Given the description of an element on the screen output the (x, y) to click on. 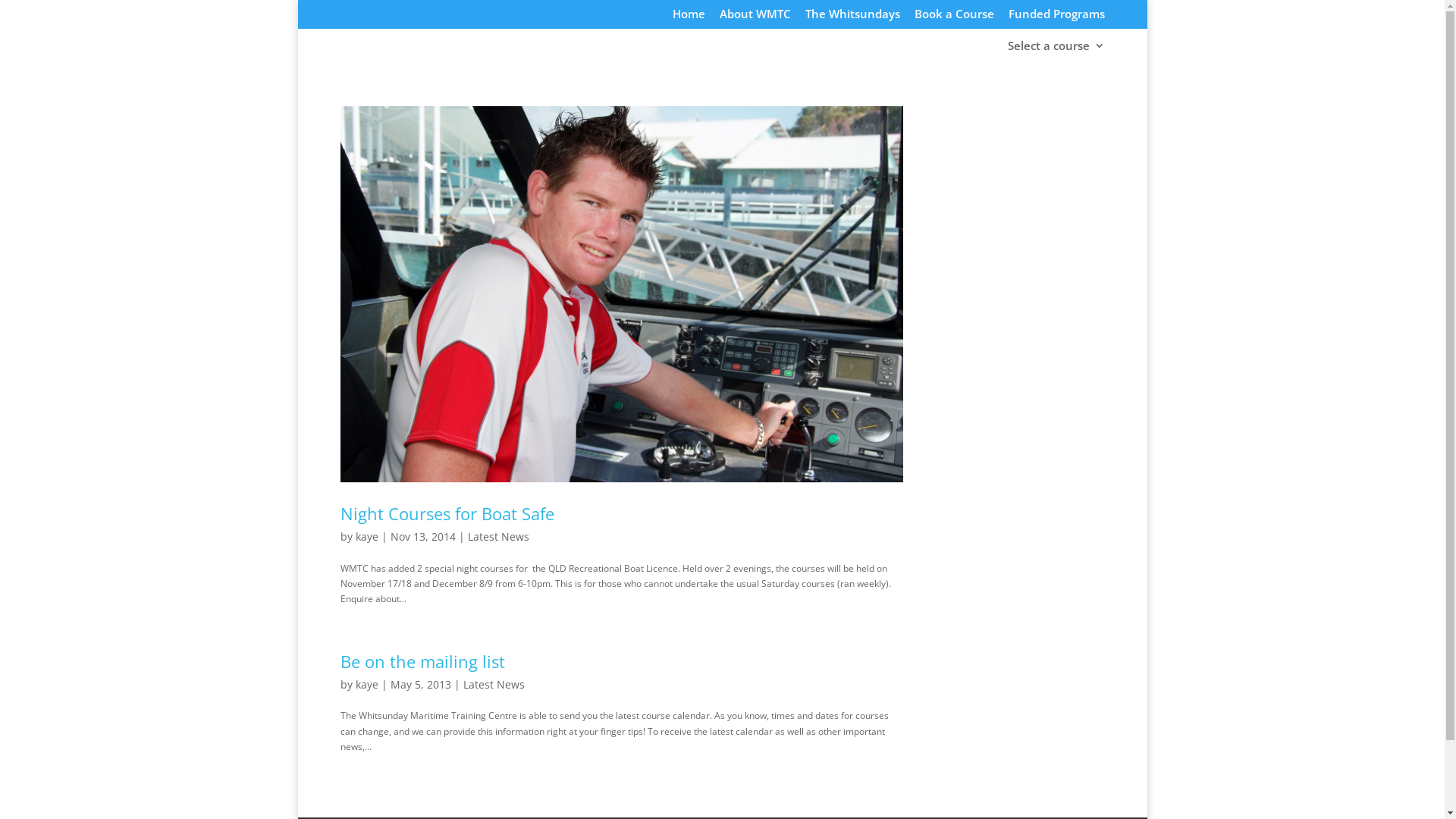
Book a Course Element type: text (954, 18)
Latest News Element type: text (493, 684)
Night Courses for Boat Safe Element type: text (446, 513)
Select a course Element type: text (1055, 50)
kaye Element type: text (365, 536)
About WMTC Element type: text (754, 18)
The Whitsundays Element type: text (852, 18)
Latest News Element type: text (497, 536)
Home Element type: text (687, 18)
kaye Element type: text (365, 684)
Funded Programs Element type: text (1056, 18)
Be on the mailing list Element type: text (421, 660)
